Given the description of an element on the screen output the (x, y) to click on. 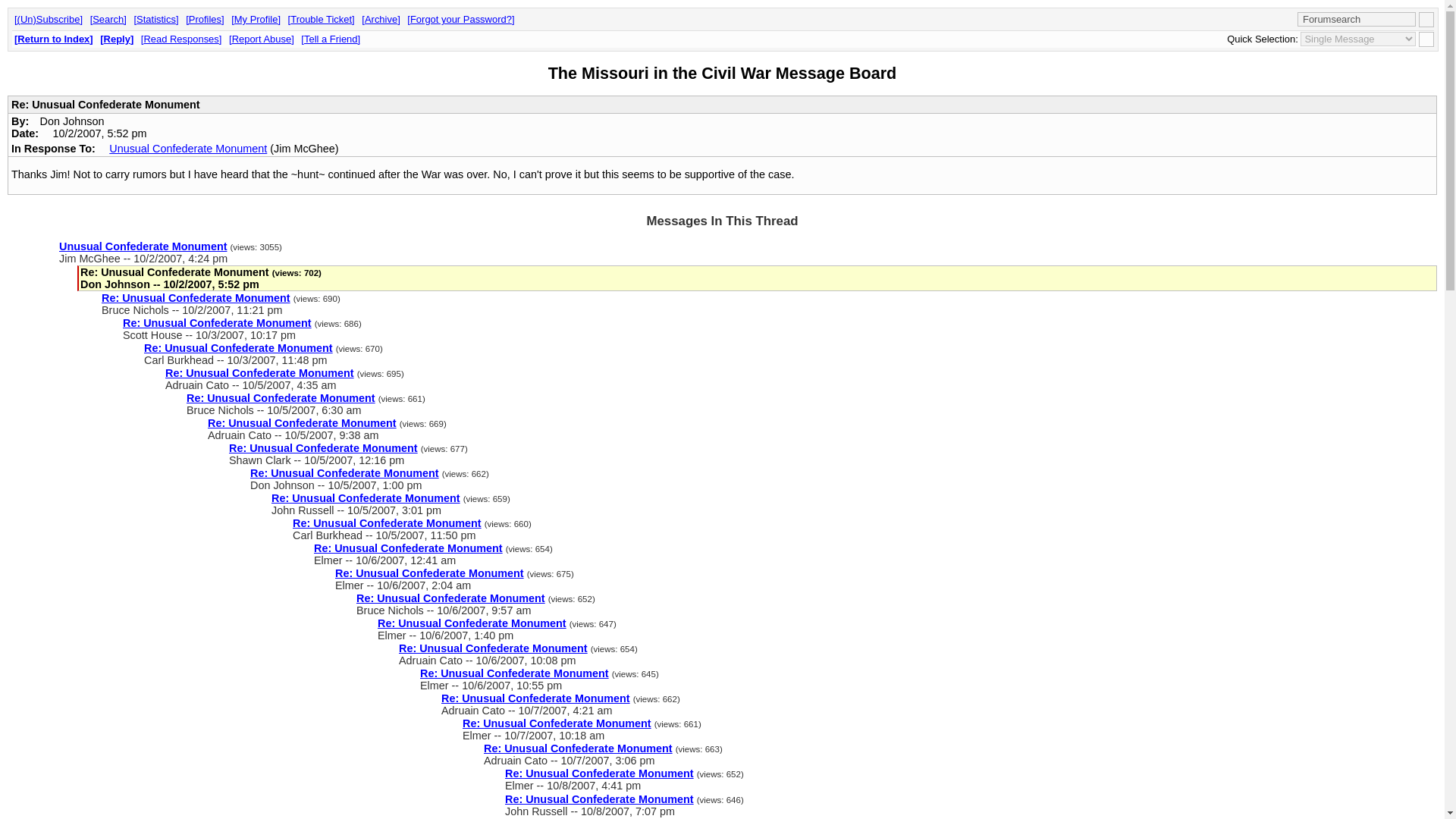
Re: Unusual Confederate Monument (599, 773)
Re: Unusual Confederate Monument (408, 548)
Re: Unusual Confederate Monument (238, 347)
Re: Unusual Confederate Monument (302, 422)
Re: Unusual Confederate Monument (280, 398)
Re: Unusual Confederate Monument (493, 648)
Re: Unusual Confederate Monument (556, 723)
Search (108, 19)
Re: Unusual Confederate Monument (259, 372)
Unusual Confederate Monument (187, 148)
Re: Unusual Confederate Monument (322, 448)
Re: Unusual Confederate Monument (535, 698)
Trouble Ticket (321, 19)
Tell a Friend (330, 39)
